Given the description of an element on the screen output the (x, y) to click on. 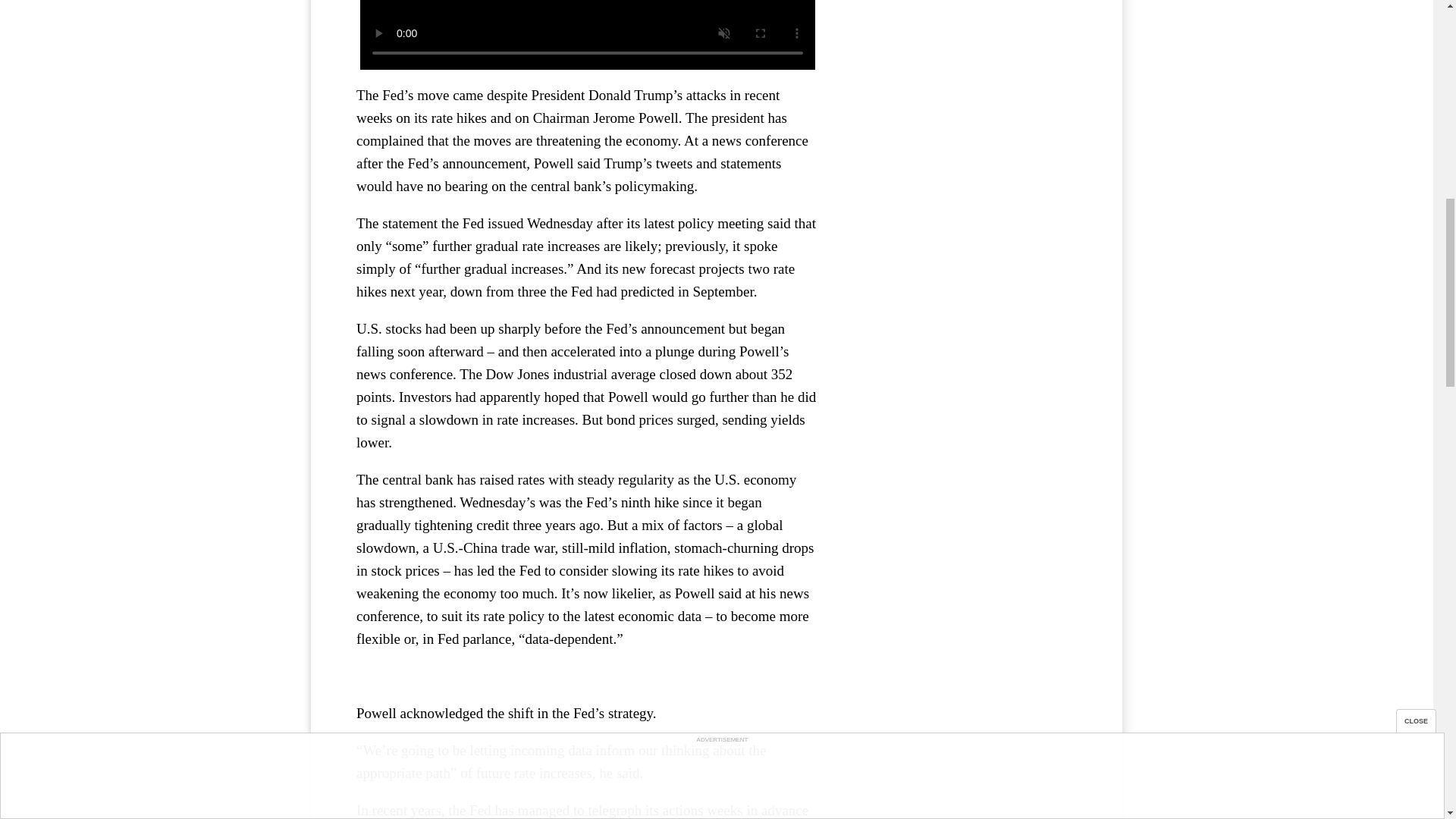
3rd party ad content (962, 28)
